Given the description of an element on the screen output the (x, y) to click on. 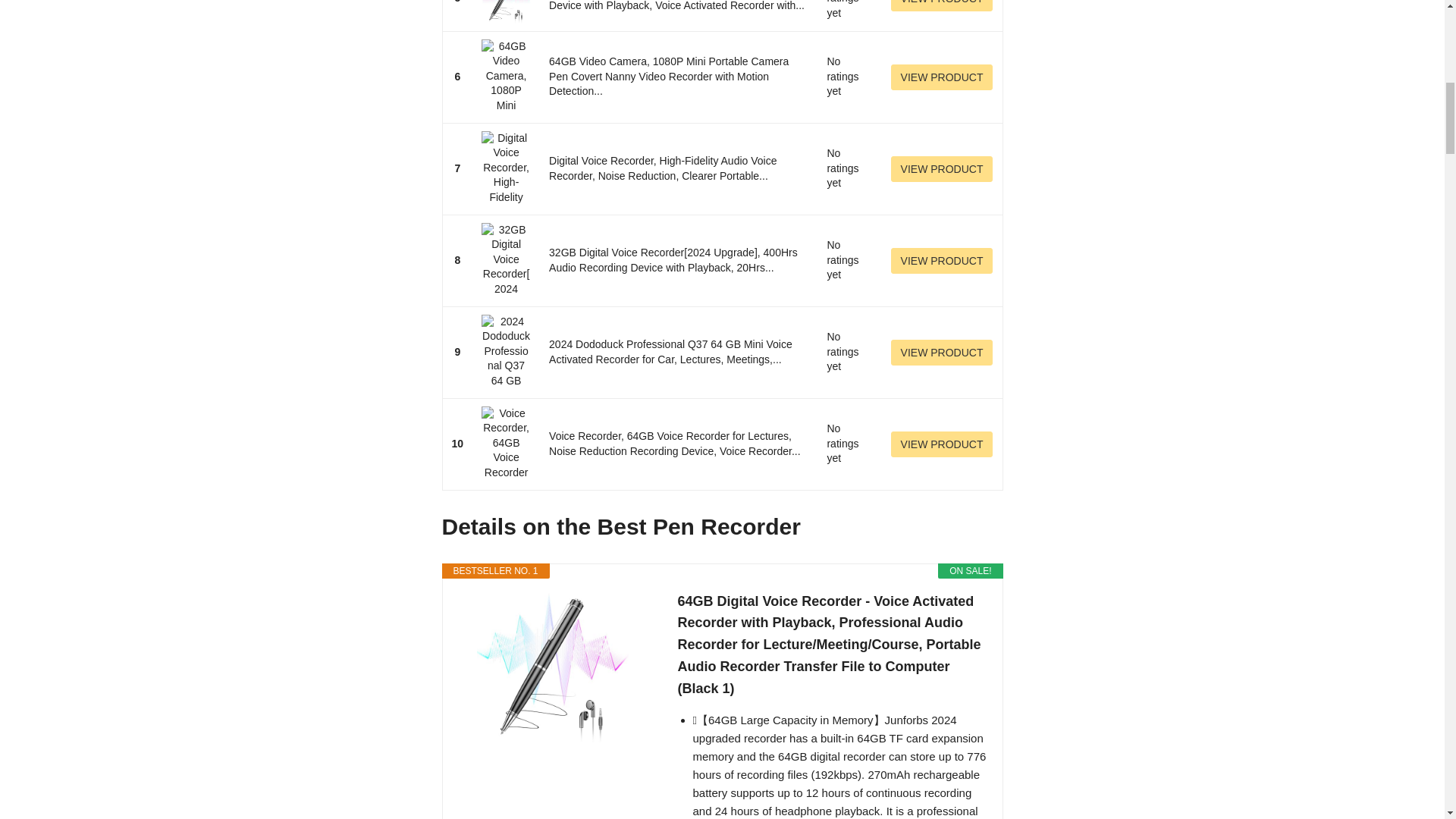
VIEW PRODUCT (941, 77)
VIEW PRODUCT (941, 444)
VIEW PRODUCT (941, 5)
VIEW PRODUCT (941, 168)
VIEW PRODUCT (941, 352)
VIEW PRODUCT (941, 260)
